Given the description of an element on the screen output the (x, y) to click on. 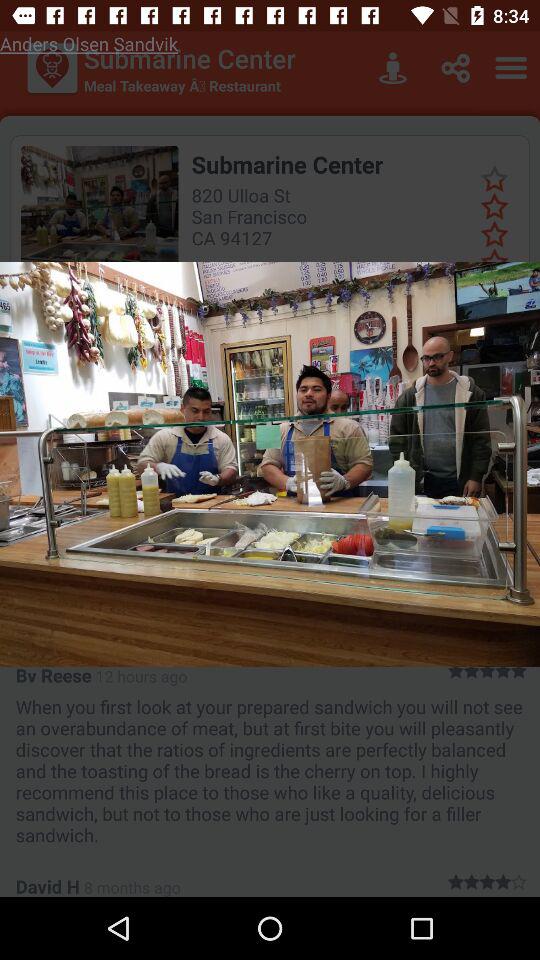
tap the anders olsen sandvik at the top left corner (89, 43)
